Given the description of an element on the screen output the (x, y) to click on. 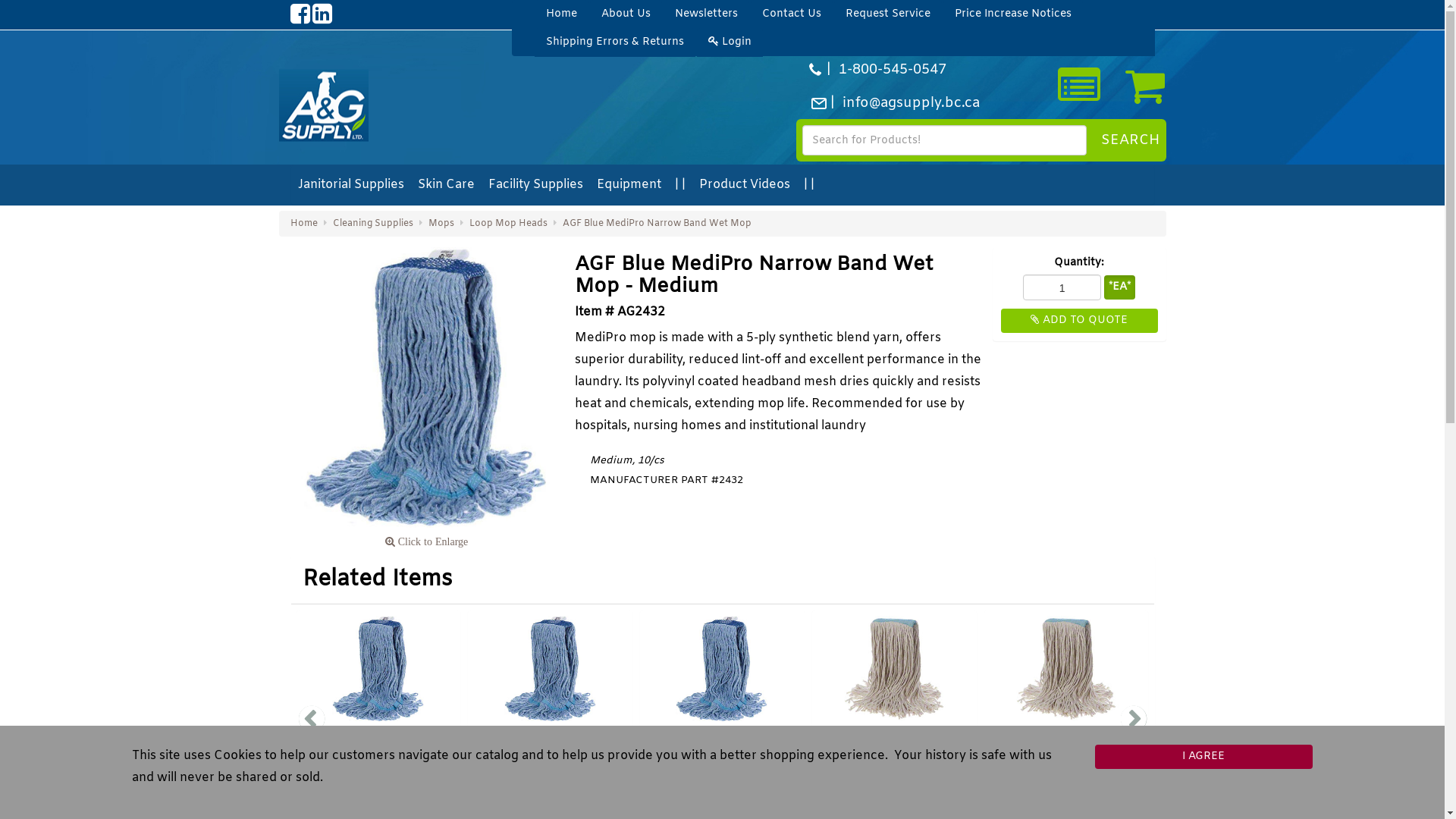
AGF Blue MediPro Narrow Band Wet Mop - XL Element type: text (722, 743)
I AGREE Element type: text (1203, 756)
| | Element type: text (680, 184)
SHOW DETAILS Element type: text (893, 792)
SHOW DETAILS Element type: text (1066, 792)
Home Element type: text (302, 223)
 Login Element type: text (729, 42)
| | Element type: text (809, 184)
Cleaning Supplies Element type: text (372, 223)
Skin Care Element type: text (446, 184)
Newsletters Element type: text (706, 14)
ADD TO QUOTE Element type: text (1079, 320)
SHOW DETAILS Element type: text (378, 792)
About Us Element type: text (625, 14)
Shipping Errors & Returns Element type: text (614, 42)
Contact Us Element type: text (791, 14)
Mops Element type: text (440, 223)
Facility Supplies Element type: text (536, 184)
AGF Blue MediPro Narrow Band Wet Mop - Medium Element type: hover (426, 387)
AGF Cotton Narrow Band Wet Mop - 450 g Element type: text (894, 743)
Product Videos Element type: text (745, 184)
 Click to Enlarge Element type: text (426, 398)
Request Service Element type: text (887, 14)
Loop Mop Heads Element type: text (507, 223)
Equipment Element type: text (628, 184)
AGF Blue MediPro Narrow Band Wet Mop - Small Element type: text (549, 743)
Janitorial Supplies Element type: text (351, 184)
Show Quote Cart Element type: hover (1078, 85)
SHOW DETAILS Element type: text (550, 792)
Price Increase Notices Element type: text (1012, 14)
Related Items Element type: text (376, 579)
AGF Cotton Narrow Band Wet Mop - 550 g Element type: text (1066, 743)
SHOW DETAILS Element type: text (722, 792)
Home Element type: text (561, 14)
AGF Blue MediPro Narrow Band Wet Mop Element type: text (656, 223)
AGF Blue MediPro Narrow Band Wet Mop - Large Element type: text (377, 743)
